Given the description of an element on the screen output the (x, y) to click on. 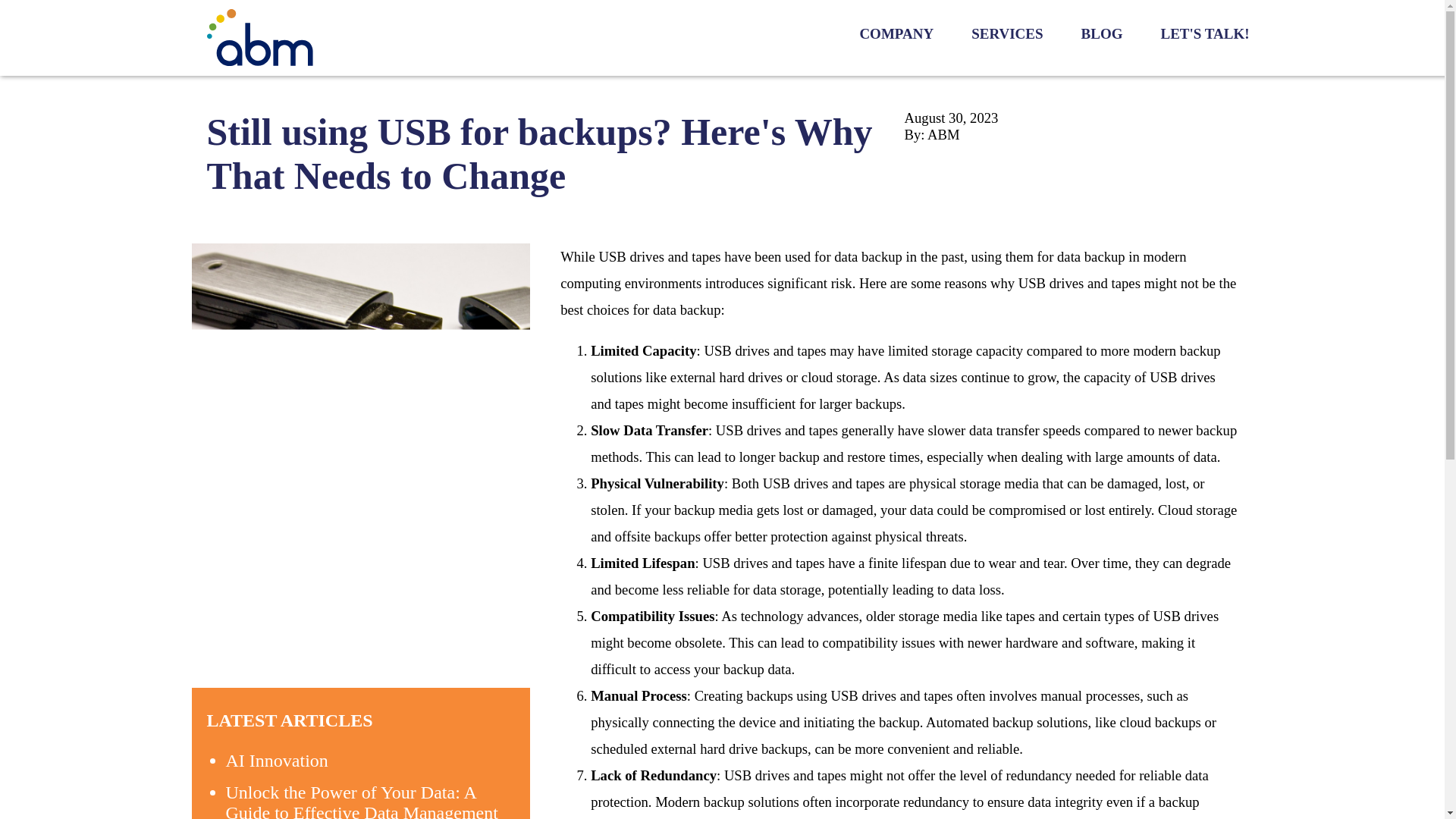
AI Innovation (277, 760)
BLOG (1101, 33)
SERVICES (1006, 33)
COMPANY (896, 33)
LET'S TALK! (1204, 33)
